Given the description of an element on the screen output the (x, y) to click on. 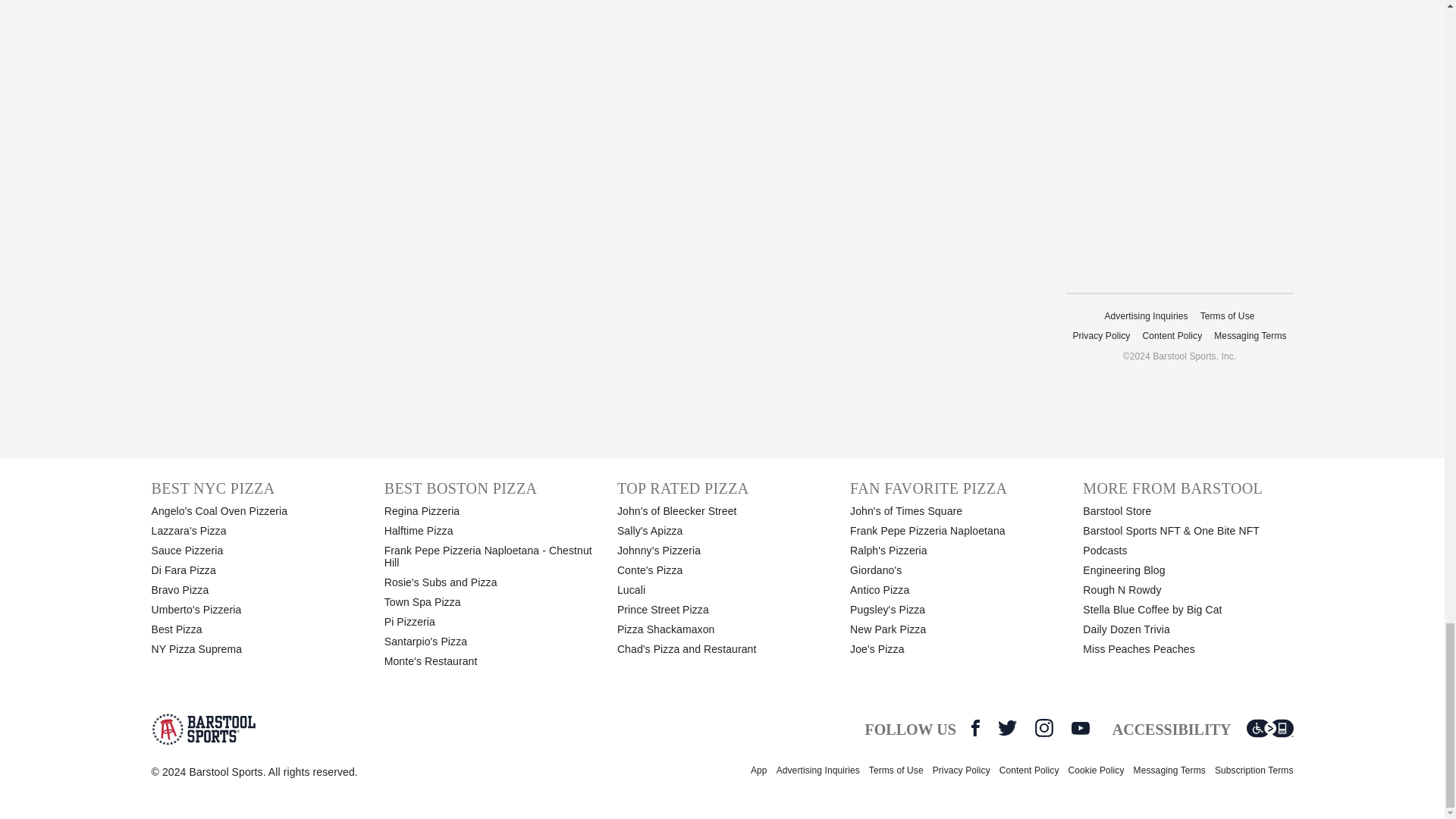
YouTube Icon (1080, 728)
Facebook Icon (975, 728)
Instagram Icon (1043, 728)
Twitter Icon (1006, 728)
Level Access website accessibility icon (1270, 727)
